Given the description of an element on the screen output the (x, y) to click on. 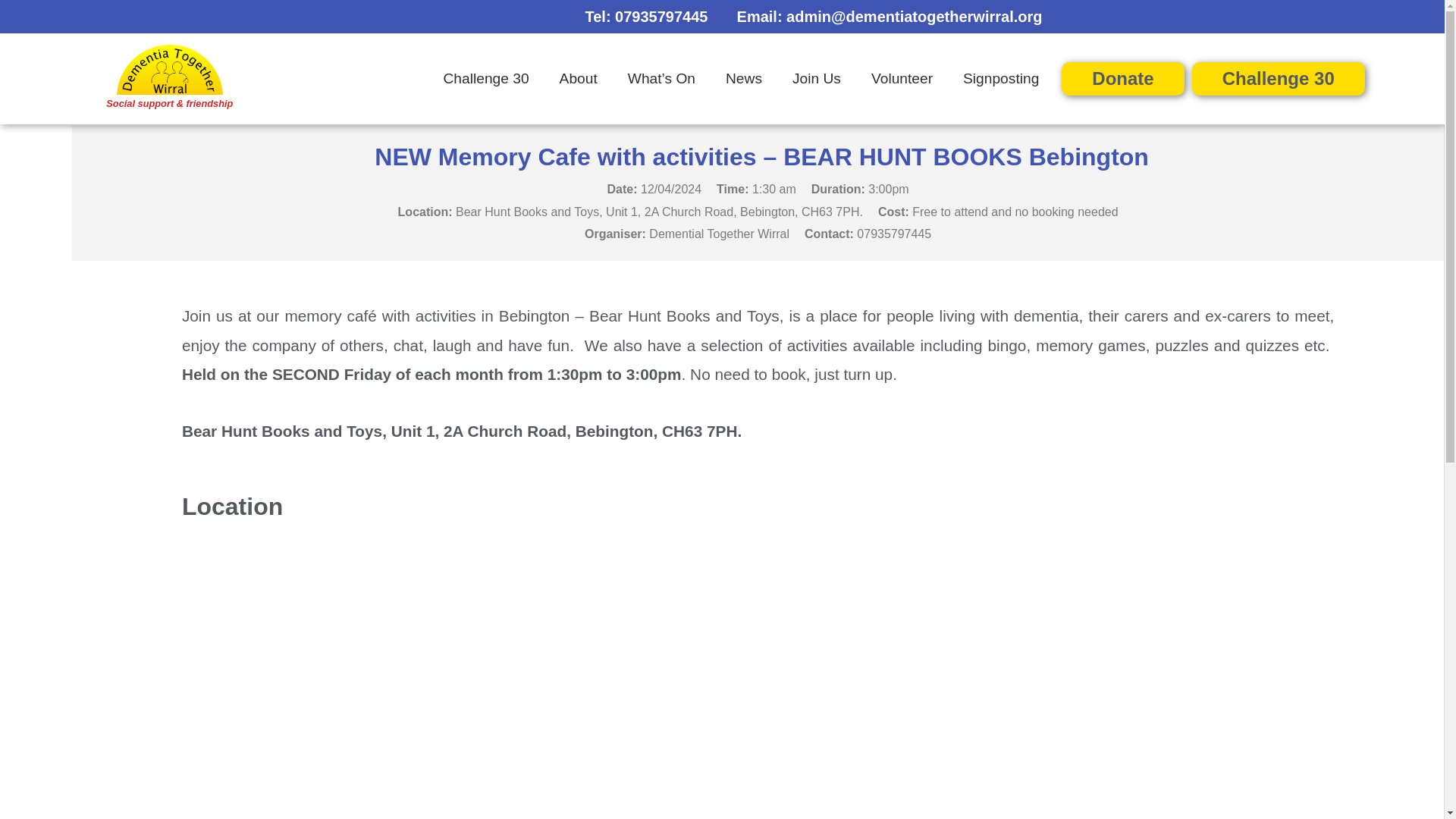
Signposting (1000, 78)
Challenge 30 (1278, 78)
Challenge 30 (486, 78)
Donate (1122, 78)
Volunteer (901, 78)
Join Us (816, 78)
Tel: 07935797445 (646, 16)
About (578, 78)
